Given the description of an element on the screen output the (x, y) to click on. 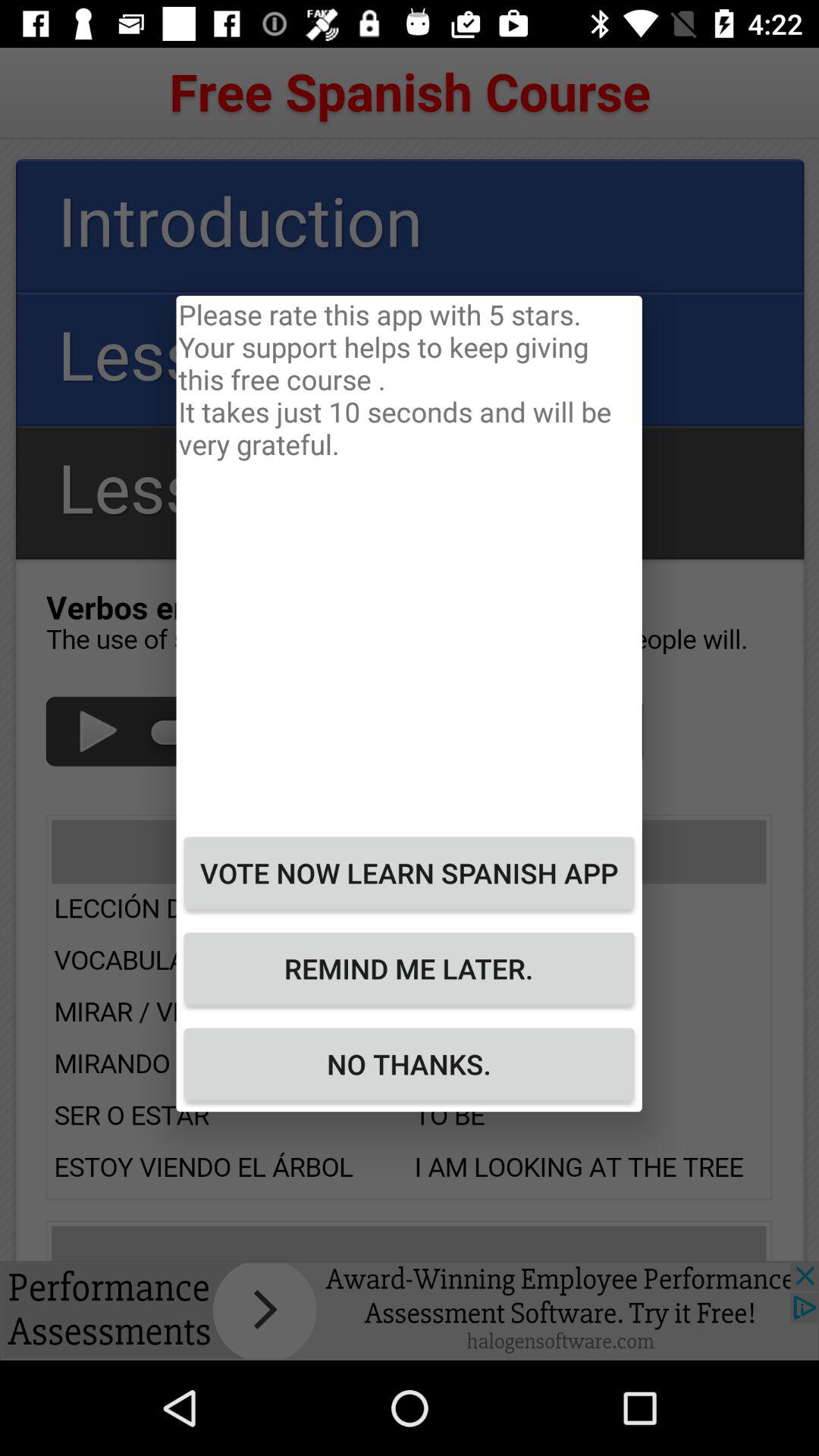
select the no thanks. (409, 1063)
